Given the description of an element on the screen output the (x, y) to click on. 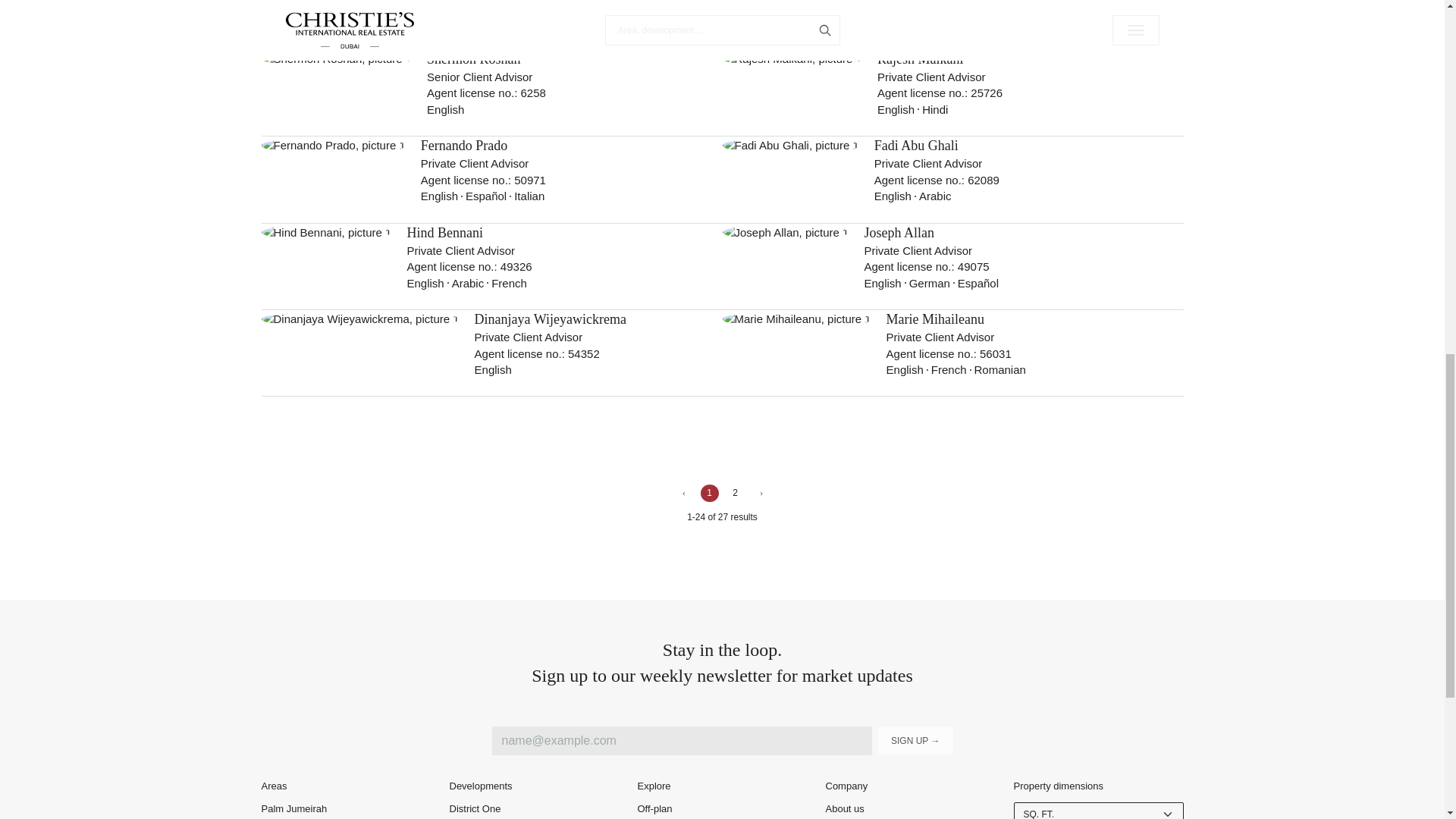
Fernando Prado (463, 145)
Rajesh Malkani (919, 58)
Fadi Abu Ghali (916, 145)
Shermon Roshan (473, 58)
